Given the description of an element on the screen output the (x, y) to click on. 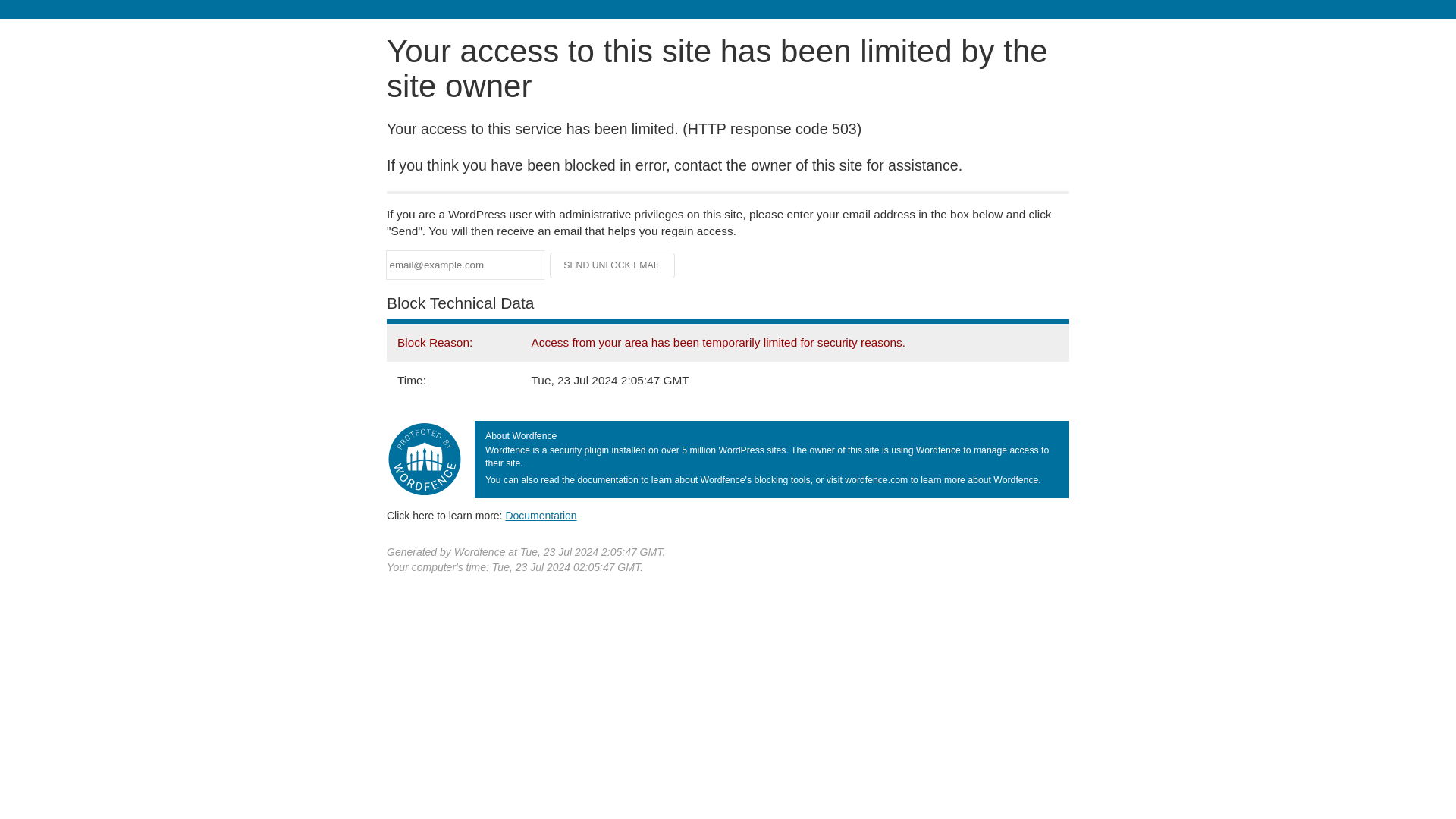
Send Unlock Email (612, 265)
Send Unlock Email (612, 265)
Documentation (540, 515)
